Given the description of an element on the screen output the (x, y) to click on. 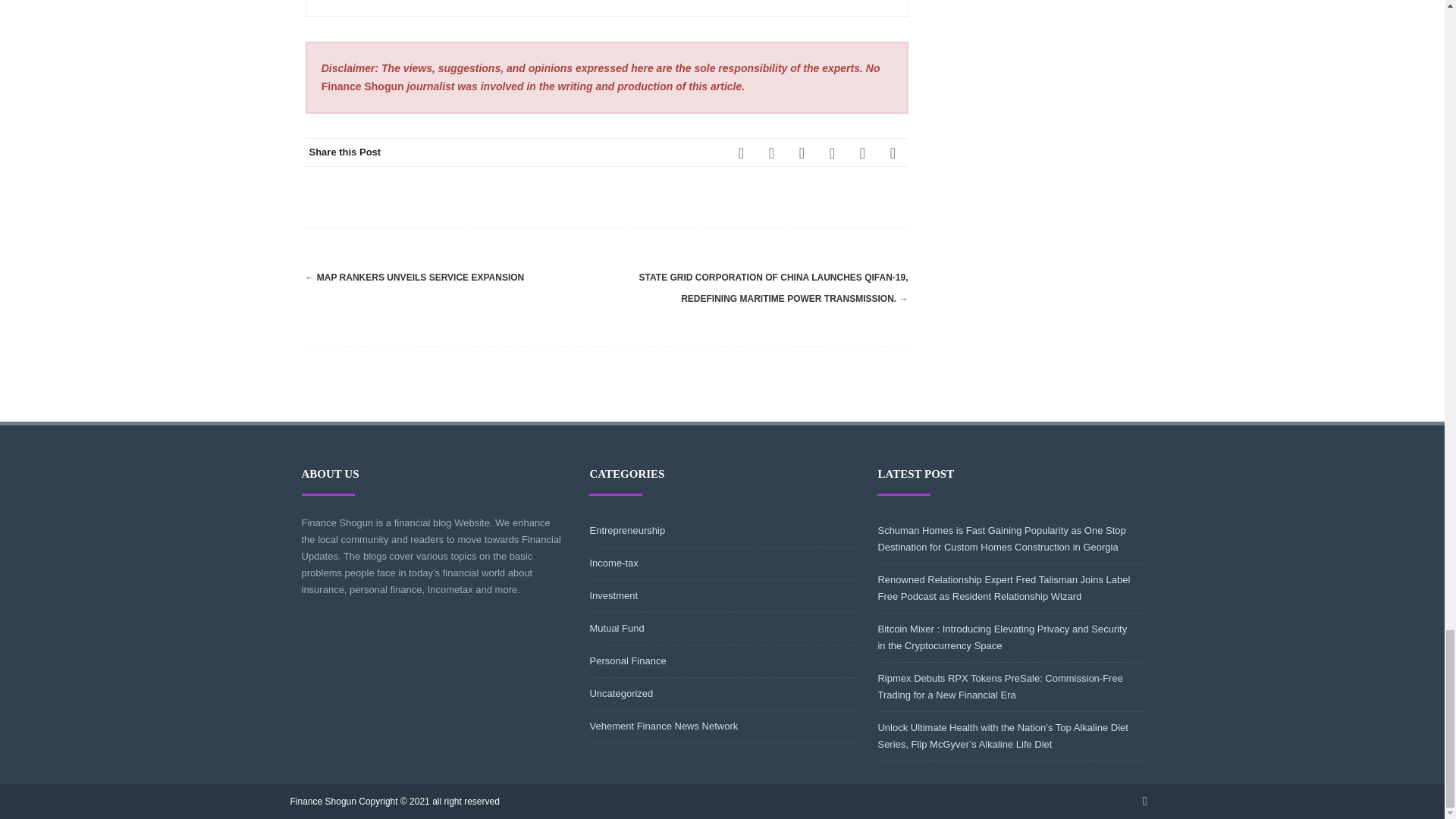
Pinterest (801, 152)
Facebook (741, 152)
Twitter (772, 152)
Email (892, 152)
LinkedIn (831, 152)
RSS (862, 152)
